Given the description of an element on the screen output the (x, y) to click on. 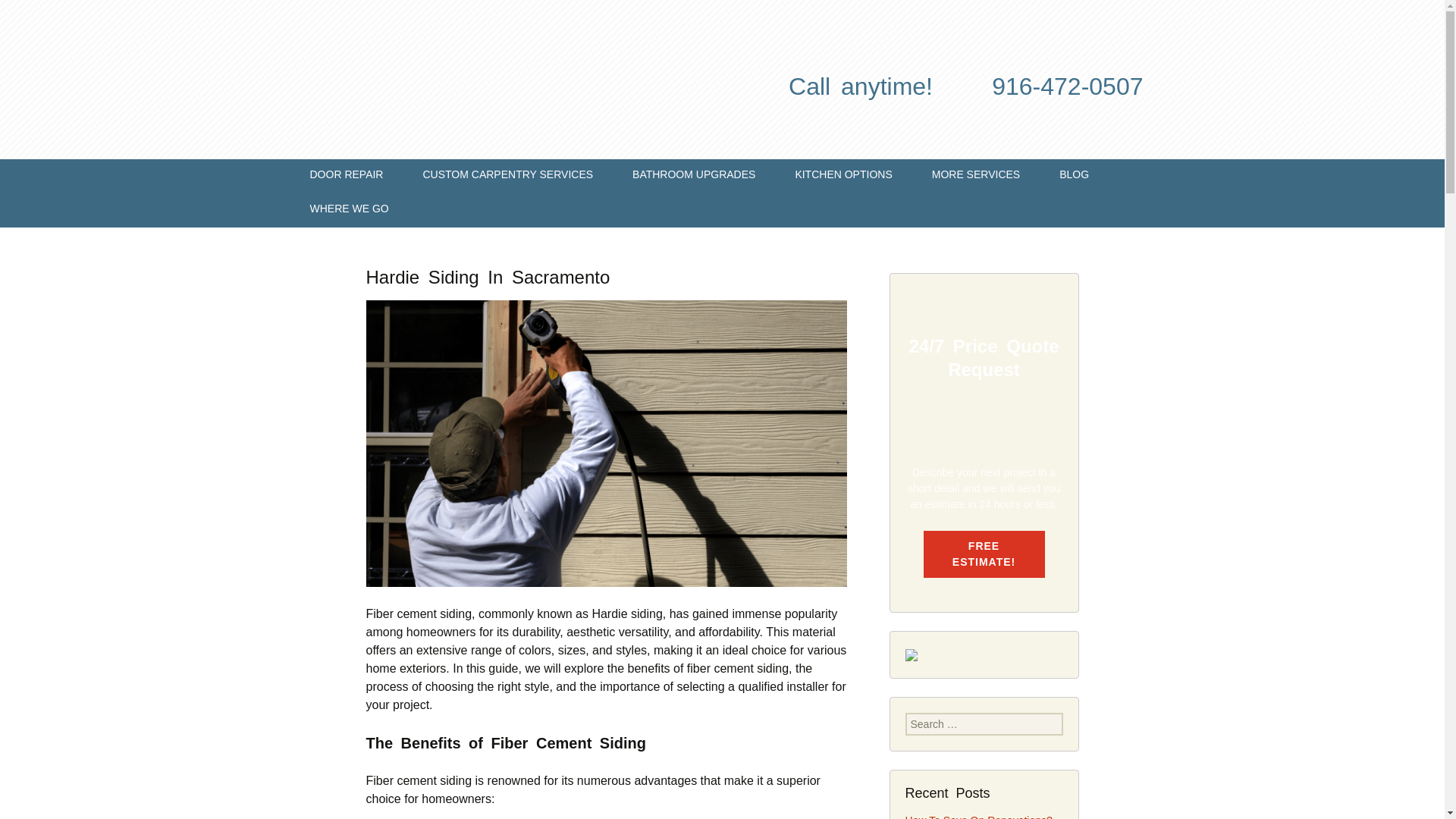
DOOR REPAIR (346, 175)
CUSTOM CARPENTRY SERVICES (507, 175)
KITCHEN OPTIONS (842, 175)
MORE SERVICES (975, 175)
BATHROOM UPGRADES (693, 175)
916-472-0507 (1066, 85)
